Given the description of an element on the screen output the (x, y) to click on. 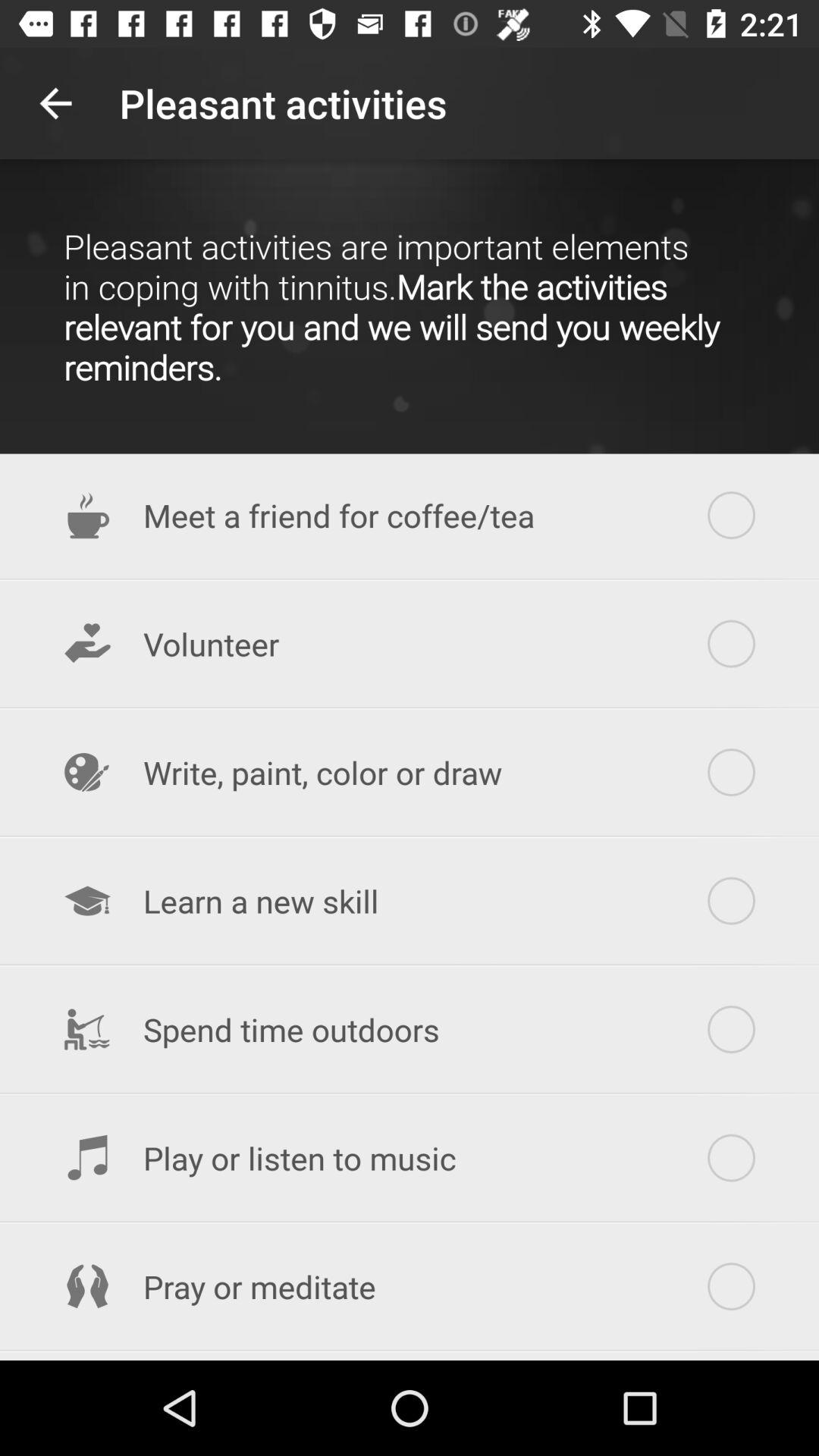
jump until explore a neighborhood (409, 1356)
